Given the description of an element on the screen output the (x, y) to click on. 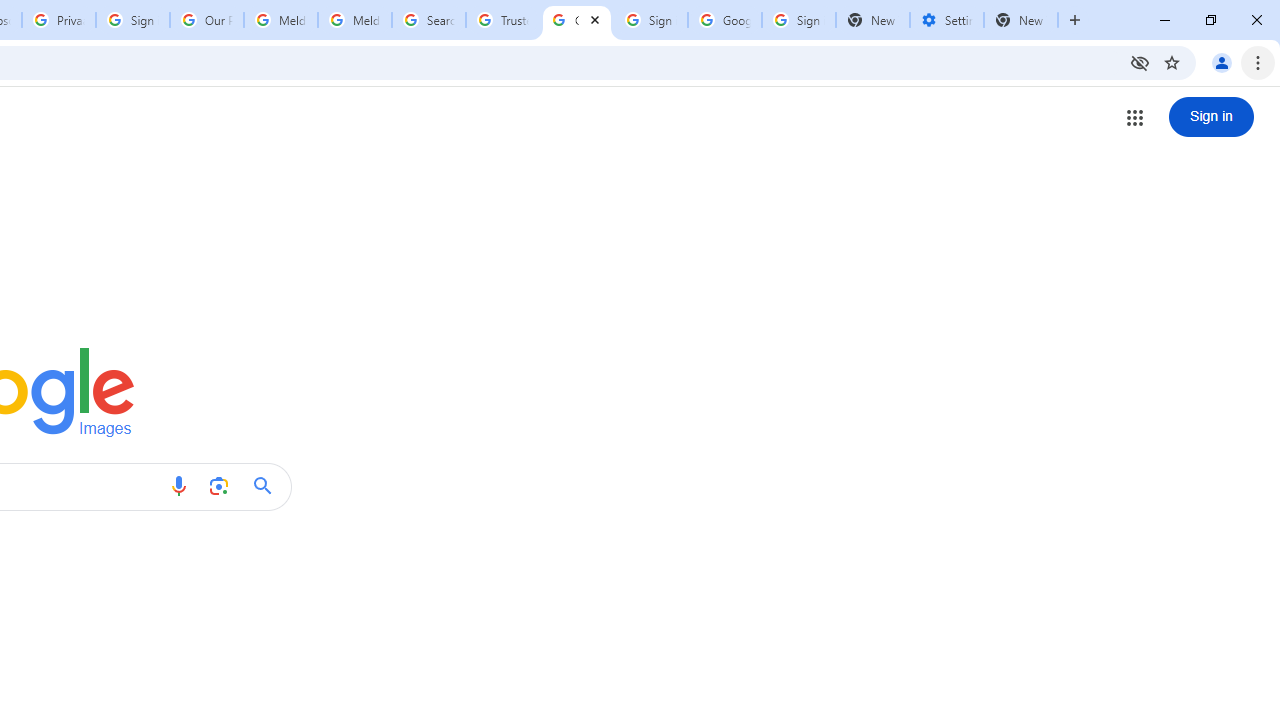
Settings - Addresses and more (947, 20)
Sign in - Google Accounts (651, 20)
Google Images (577, 20)
